Given the description of an element on the screen output the (x, y) to click on. 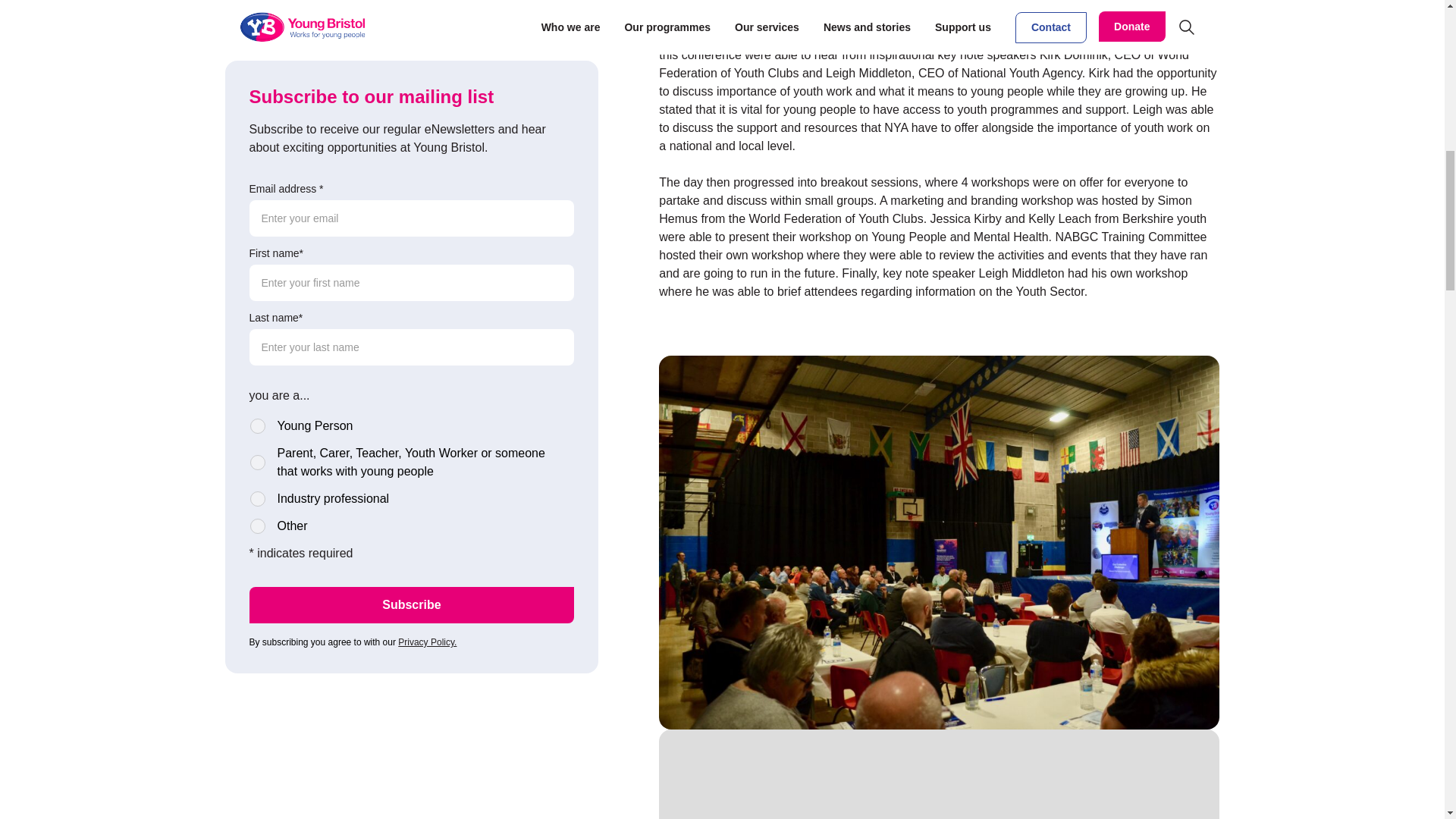
Radio (257, 280)
Radio (257, 207)
Subscribe (410, 386)
Radio (257, 307)
Radio (257, 243)
